Given the description of an element on the screen output the (x, y) to click on. 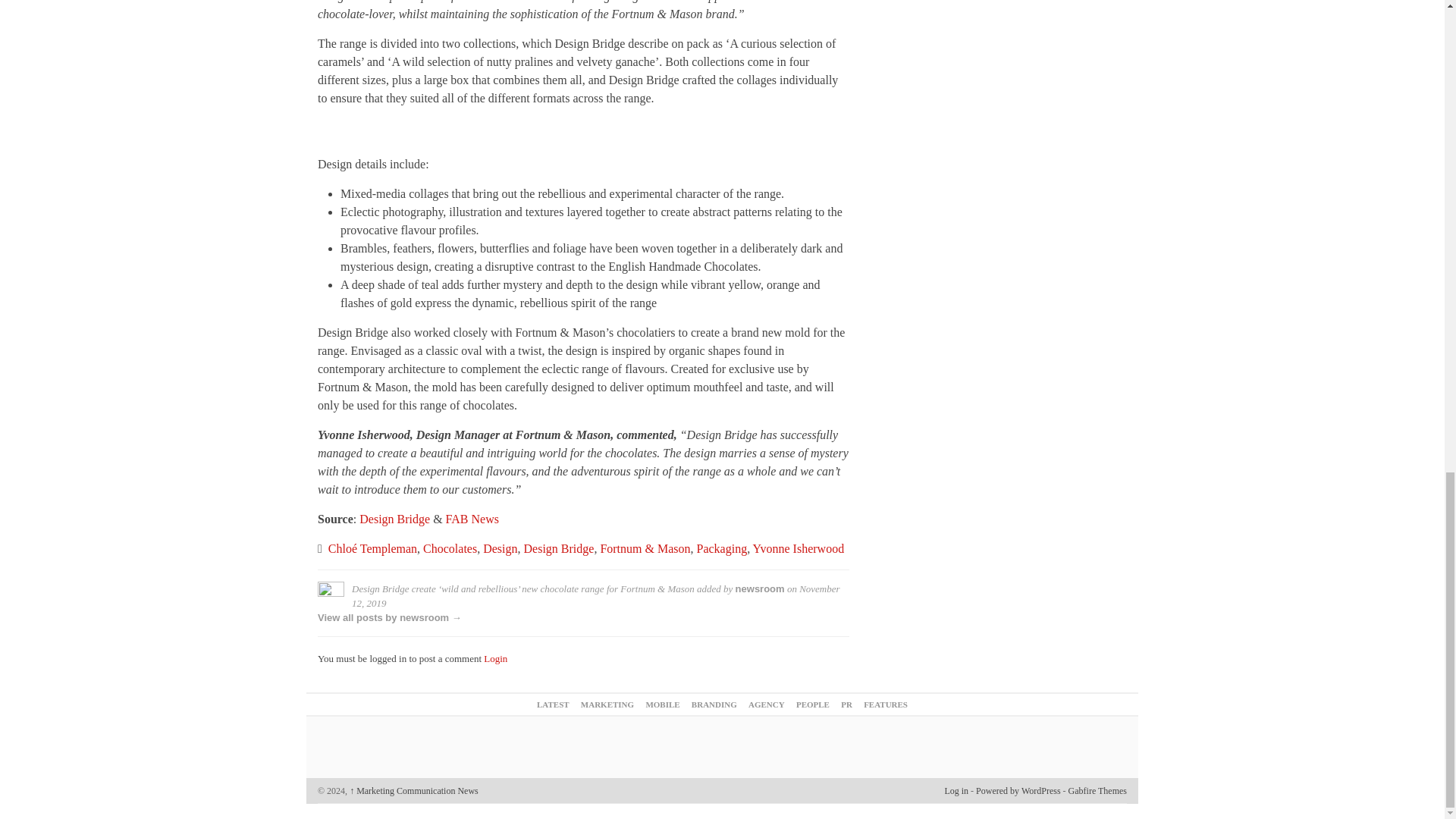
Design Bridge (394, 518)
Chocolates (450, 548)
FAB News (472, 518)
Marketing Communication News (414, 790)
